Given the description of an element on the screen output the (x, y) to click on. 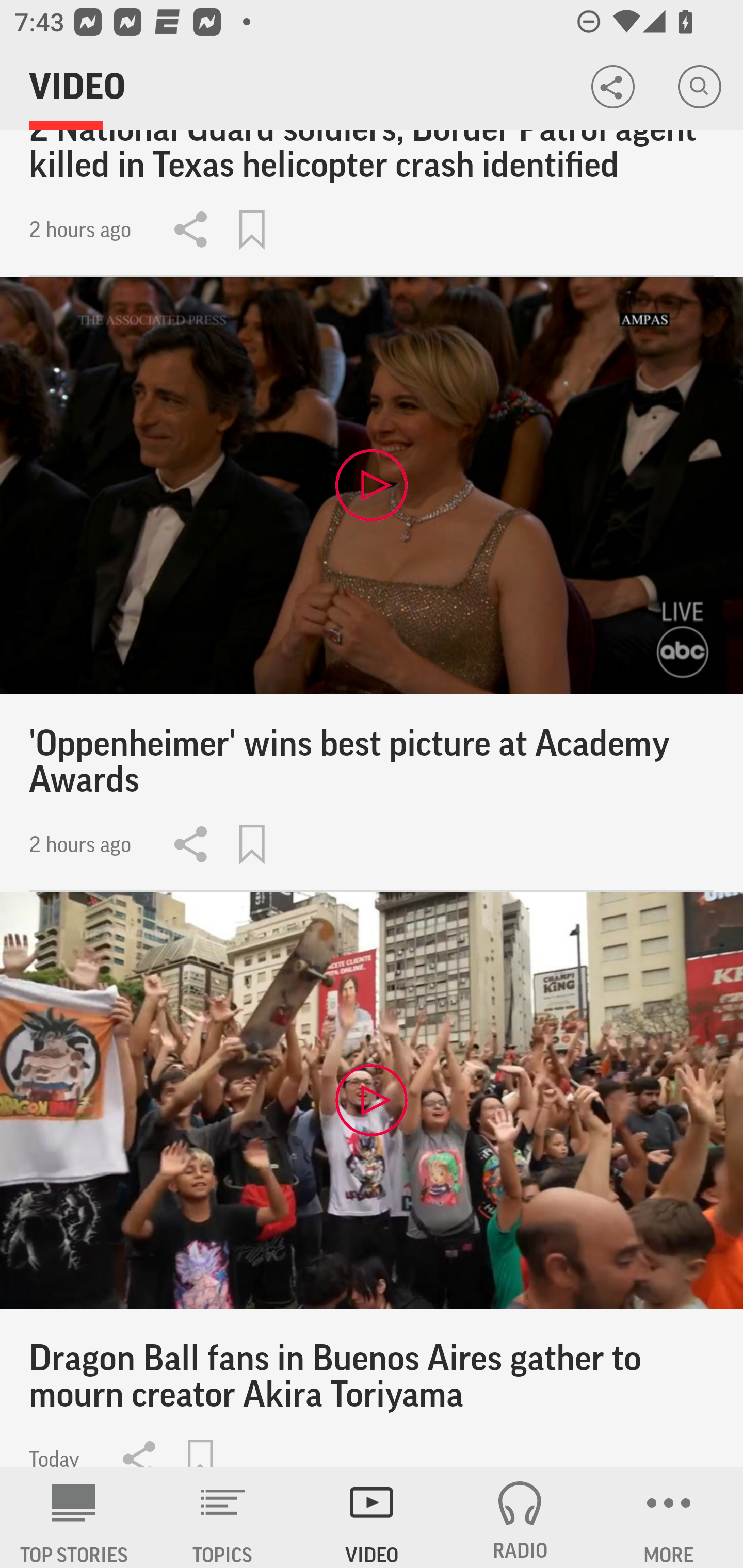
AP News TOP STORIES (74, 1517)
TOPICS (222, 1517)
VIDEO (371, 1517)
RADIO (519, 1517)
MORE (668, 1517)
